Given the description of an element on the screen output the (x, y) to click on. 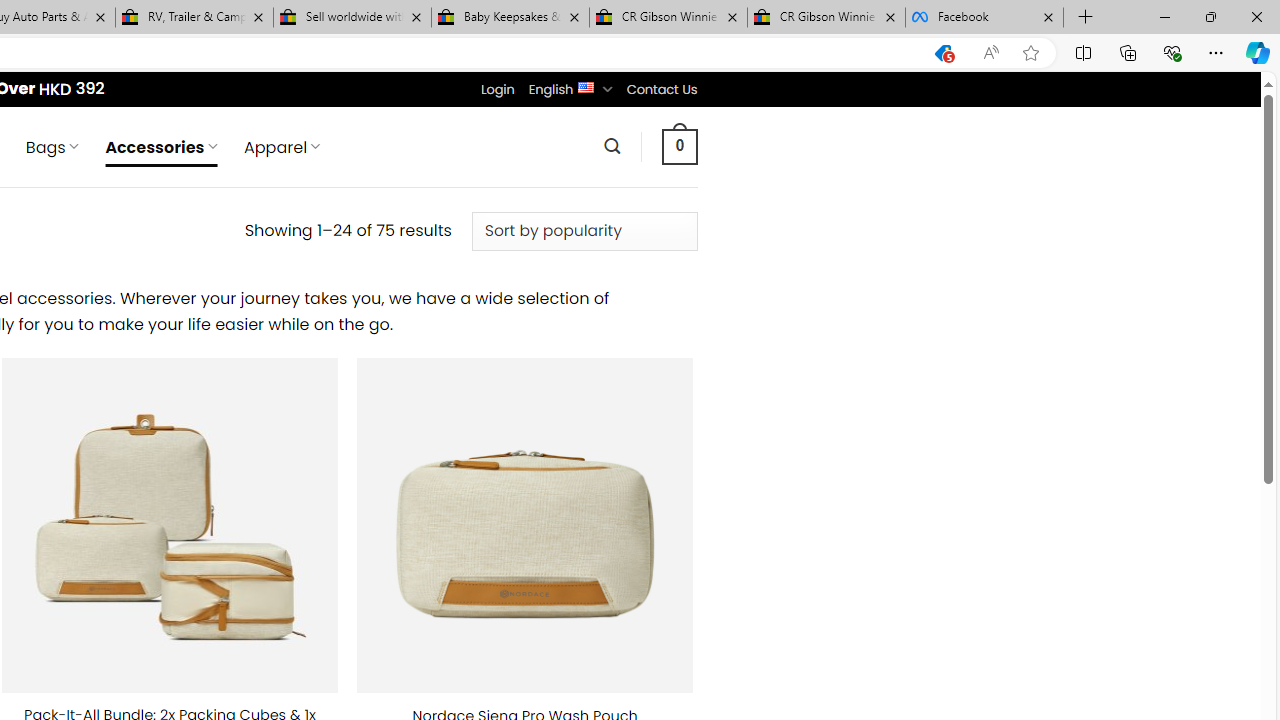
Shop order (584, 231)
